Given the description of an element on the screen output the (x, y) to click on. 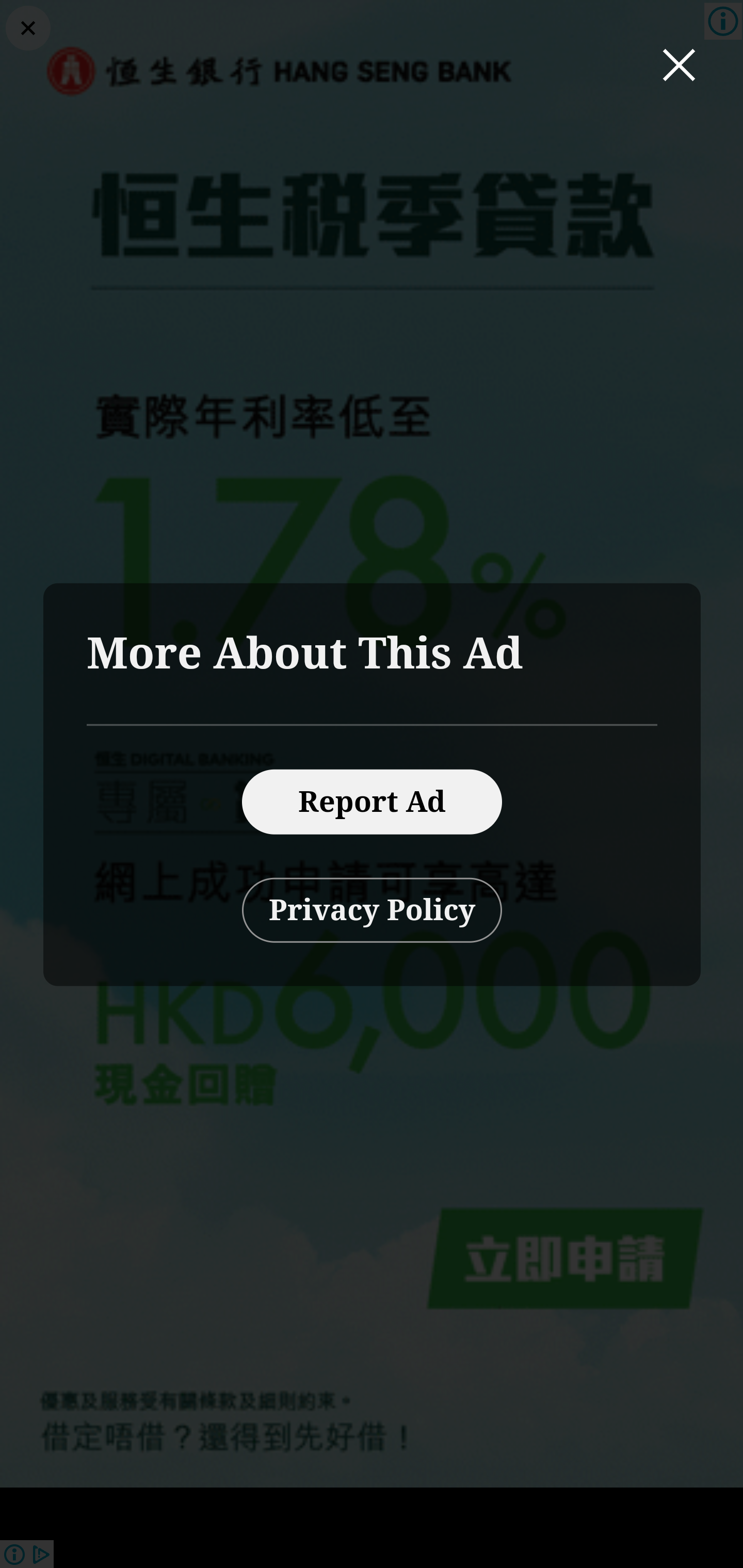
Report Ad (372, 801)
Privacy Policy (372, 910)
